Given the description of an element on the screen output the (x, y) to click on. 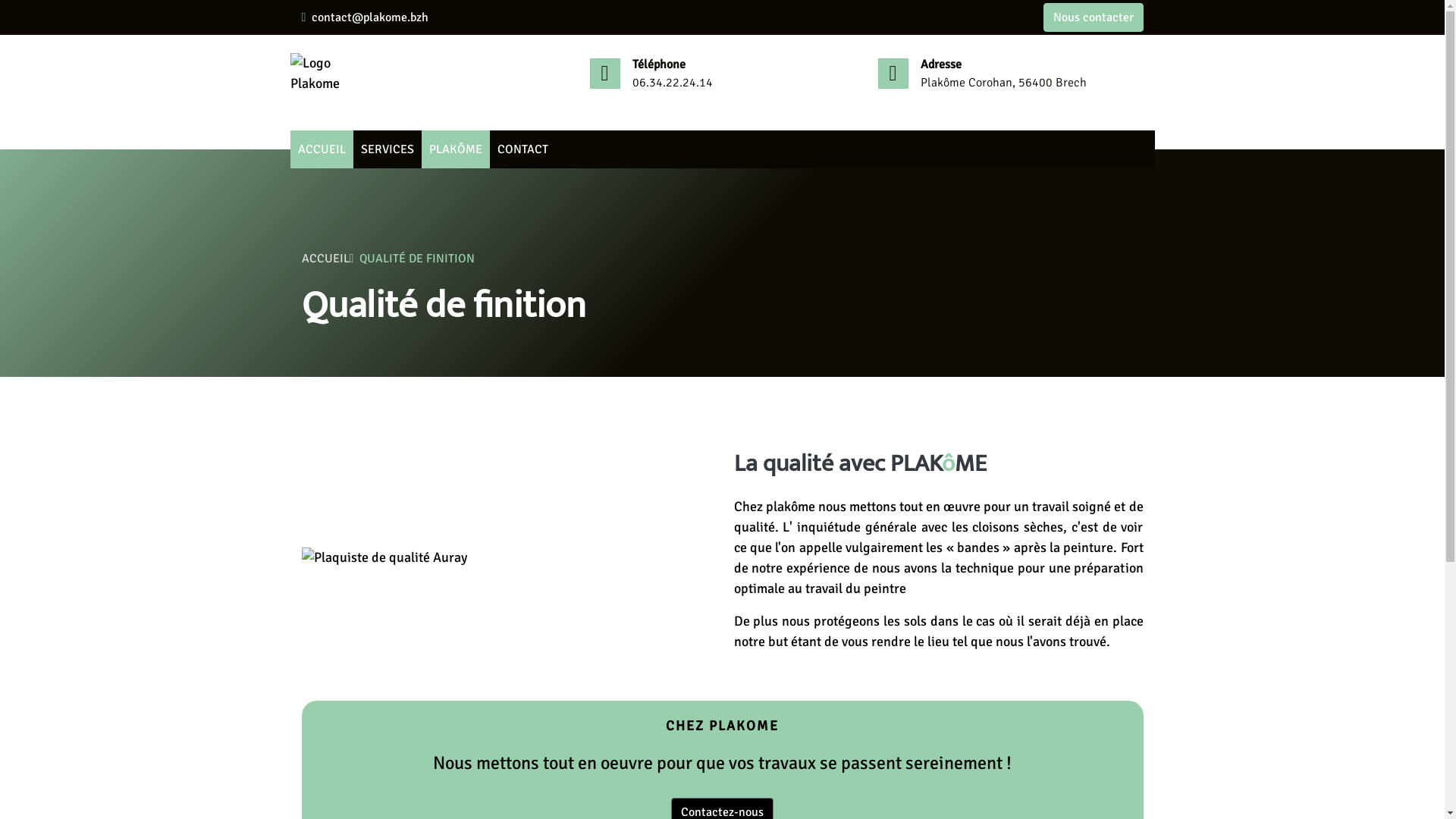
CONTACT Element type: text (522, 149)
contact@plakome.bzh Element type: text (369, 17)
06.34.22.24.14 Element type: text (672, 82)
ACCUEIL Element type: text (327, 258)
Nous contacter Element type: text (1093, 17)
SERVICES Element type: text (387, 149)
ACCUEIL Element type: text (320, 149)
